Given the description of an element on the screen output the (x, y) to click on. 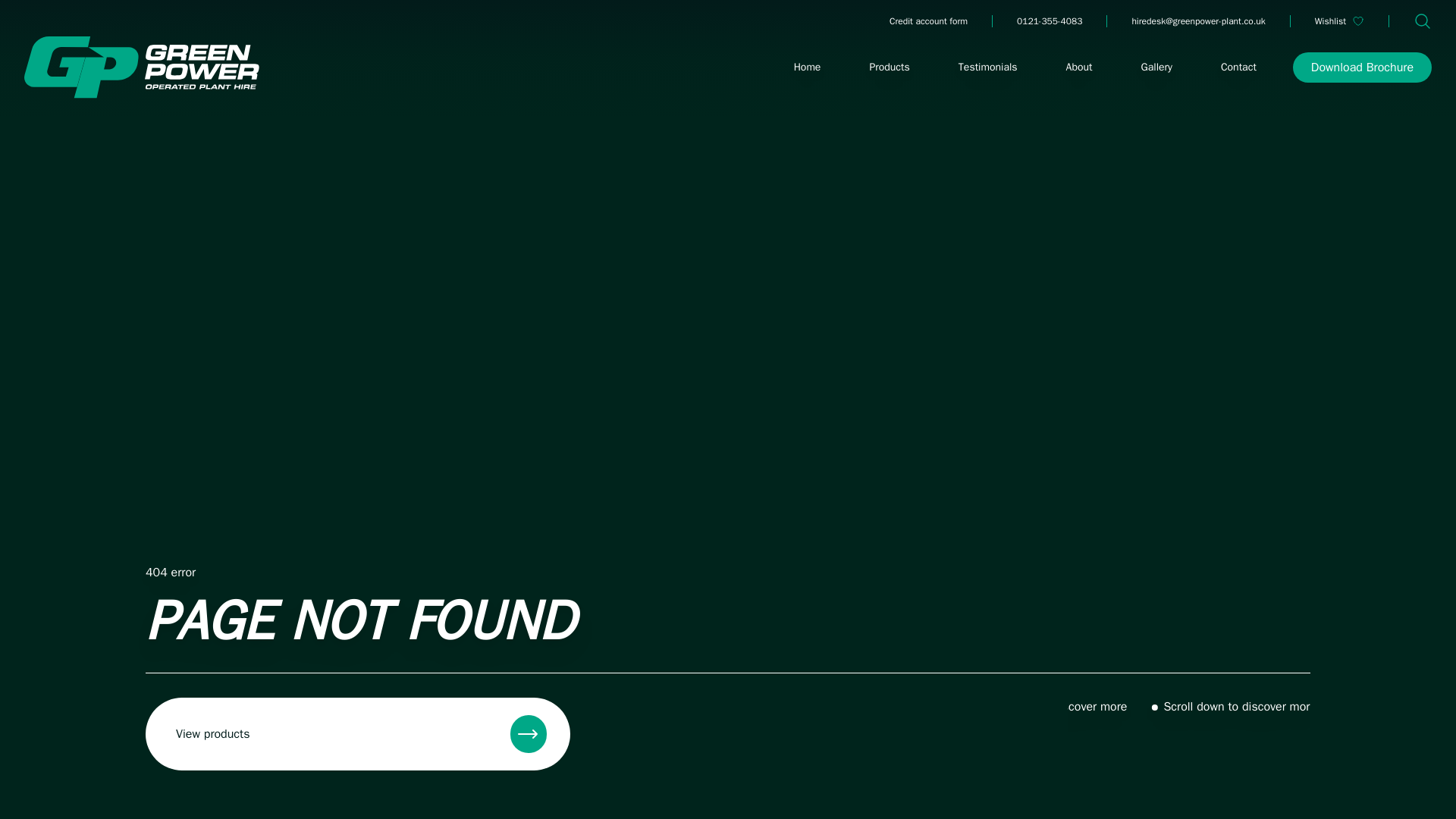
Gallery (1157, 67)
Testimonials (987, 67)
0121-355-4083 (1048, 21)
About (1079, 67)
Credit account form (928, 21)
Products (889, 67)
Home (806, 67)
Contact (1238, 67)
